Given the description of an element on the screen output the (x, y) to click on. 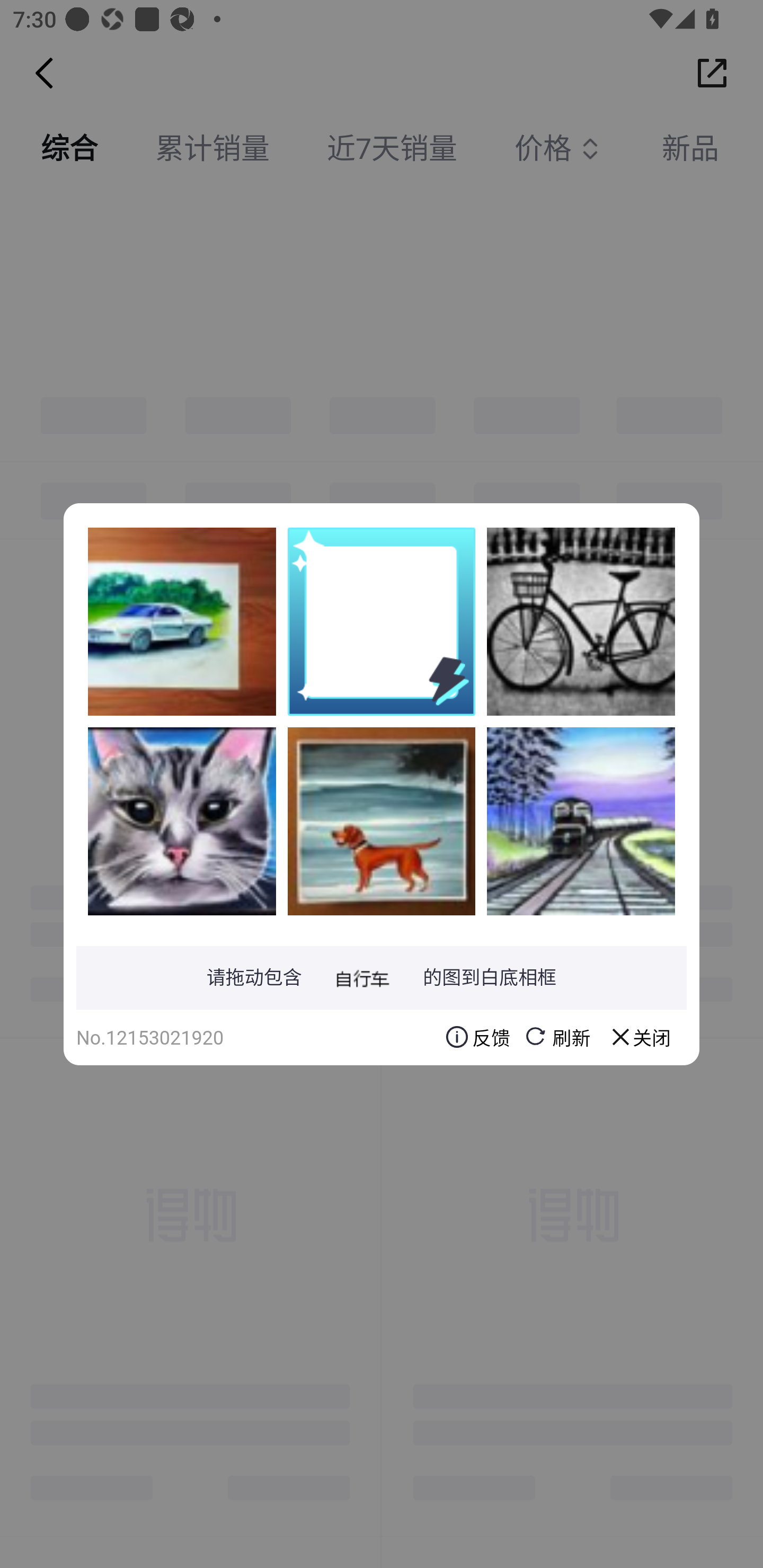
Q20aqpefHG0mbIinIDa96sdPX (580, 621)
bdrFmxhsXzl8jtWhYvWs (181, 820)
